Given the description of an element on the screen output the (x, y) to click on. 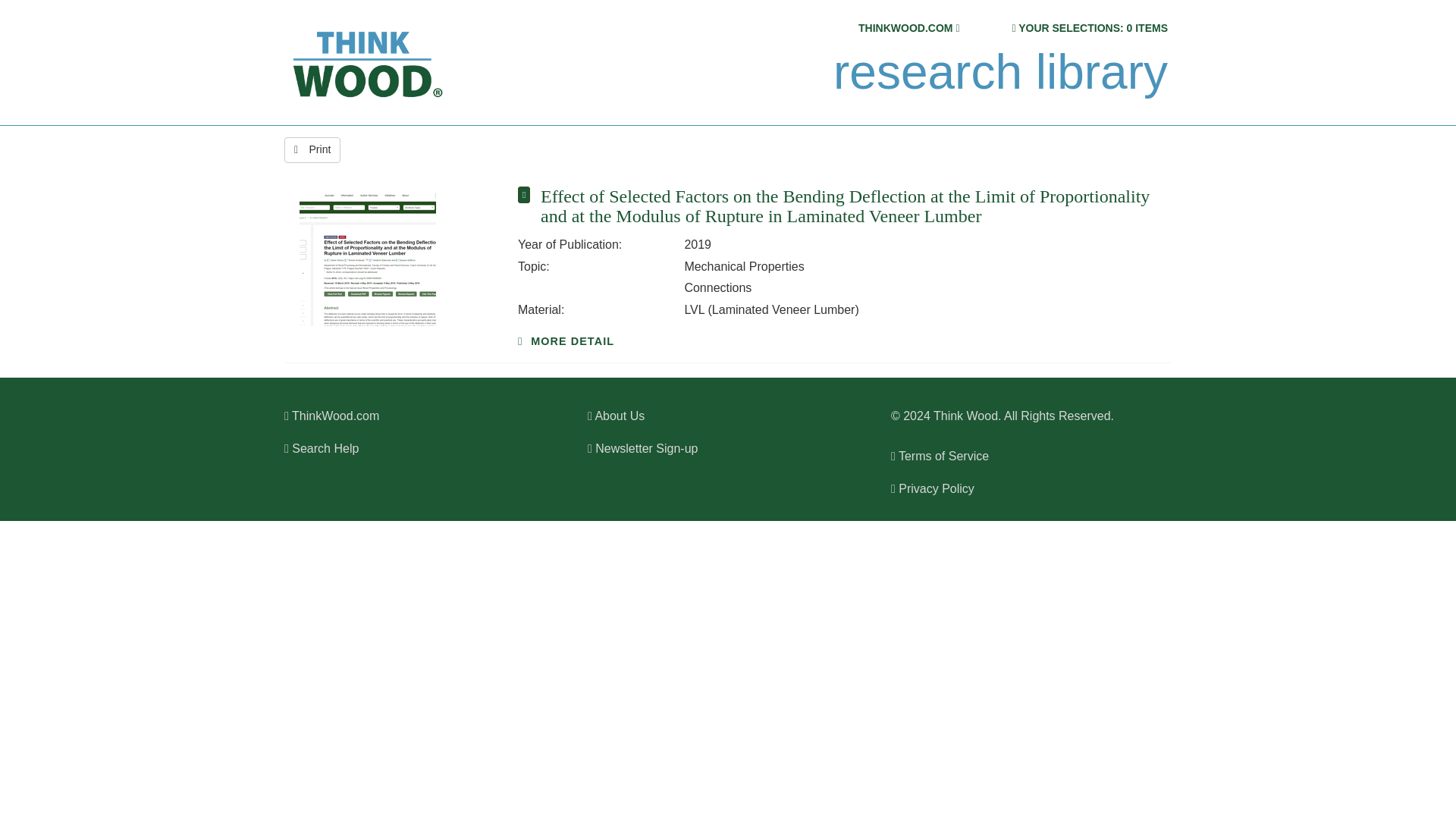
 Search Help (320, 448)
Toggle Full Record (849, 206)
 Privacy Policy (932, 488)
Print (311, 149)
THINKWOOD.COM (905, 28)
YOUR SELECTIONS: 0 ITEMS (1092, 28)
 Newsletter Sign-up (642, 448)
 Terms of Service (939, 455)
research library (999, 72)
 ThinkWood.com (330, 415)
 About Us (616, 415)
MORE DETAIL (566, 340)
